Given the description of an element on the screen output the (x, y) to click on. 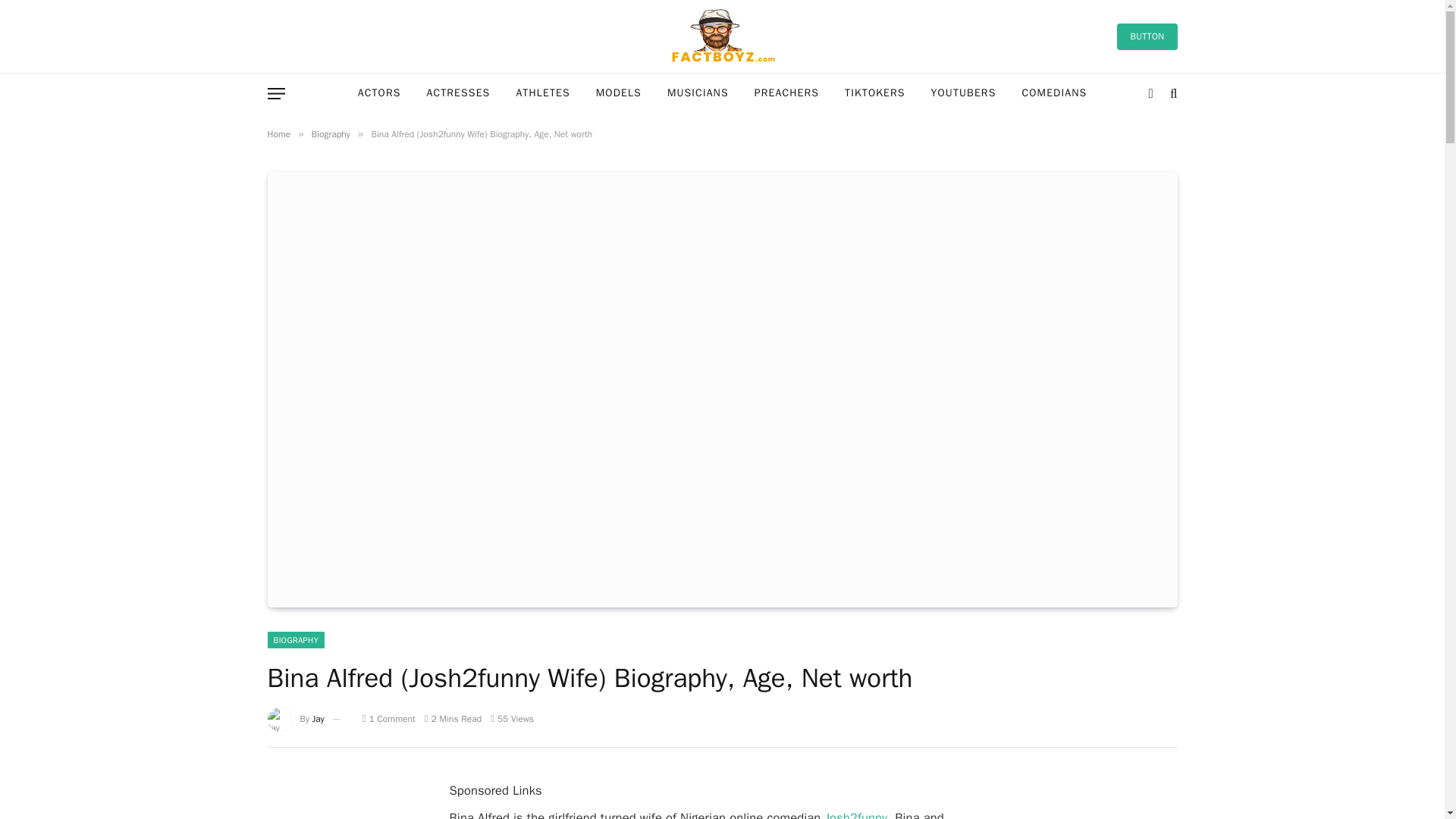
ACTORS (379, 93)
Posts by Jay (318, 718)
Switch to Dark Design - easier on eyes. (1150, 92)
PREACHERS (786, 93)
YOUTUBERS (963, 93)
ATHLETES (542, 93)
Home (277, 133)
MODELS (618, 93)
Factboyz.com (722, 36)
MUSICIANS (697, 93)
